Given the description of an element on the screen output the (x, y) to click on. 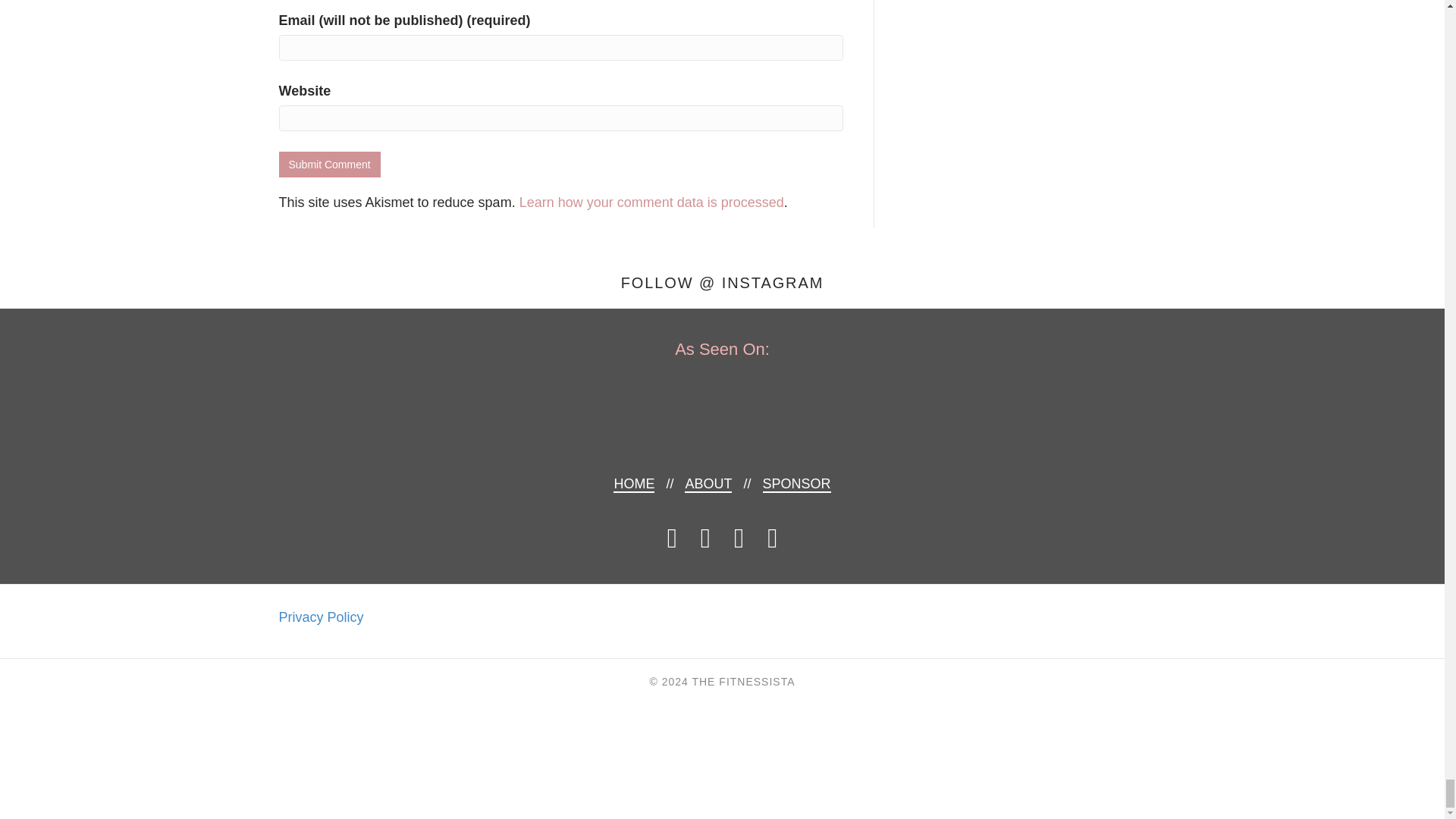
Submit Comment (329, 164)
